Given the description of an element on the screen output the (x, y) to click on. 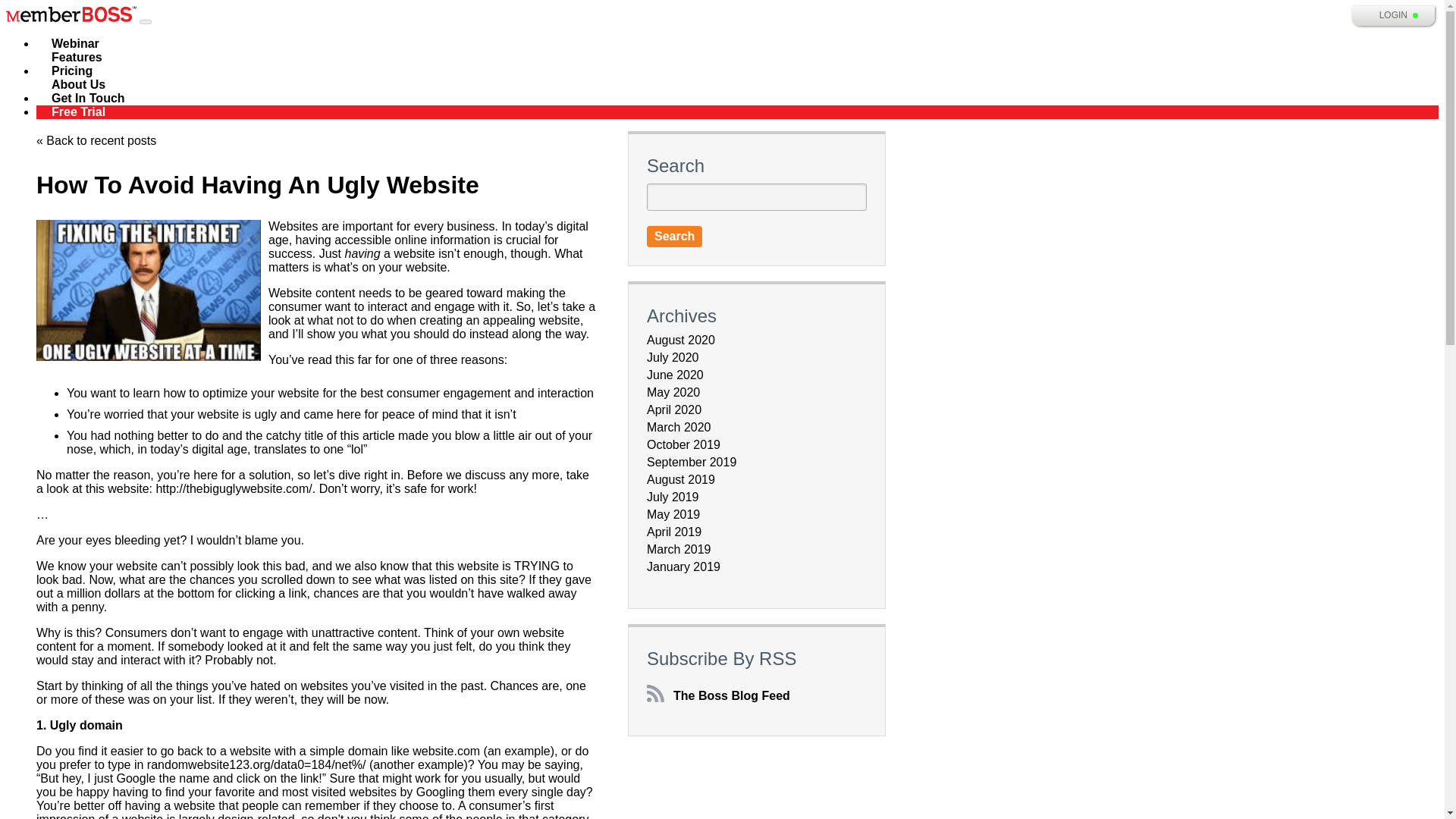
June 2020 (674, 374)
March 2019 (678, 549)
LOGIN (1393, 15)
May 2019 (673, 513)
About Us (78, 84)
March 2020 (678, 427)
Login is unlocked (1415, 15)
July 2019 (672, 496)
May 2020 (673, 391)
Get In Touch (87, 98)
Pricing (71, 70)
April 2019 (673, 531)
October 2019 (683, 444)
Search (673, 236)
Webinar (75, 43)
